Given the description of an element on the screen output the (x, y) to click on. 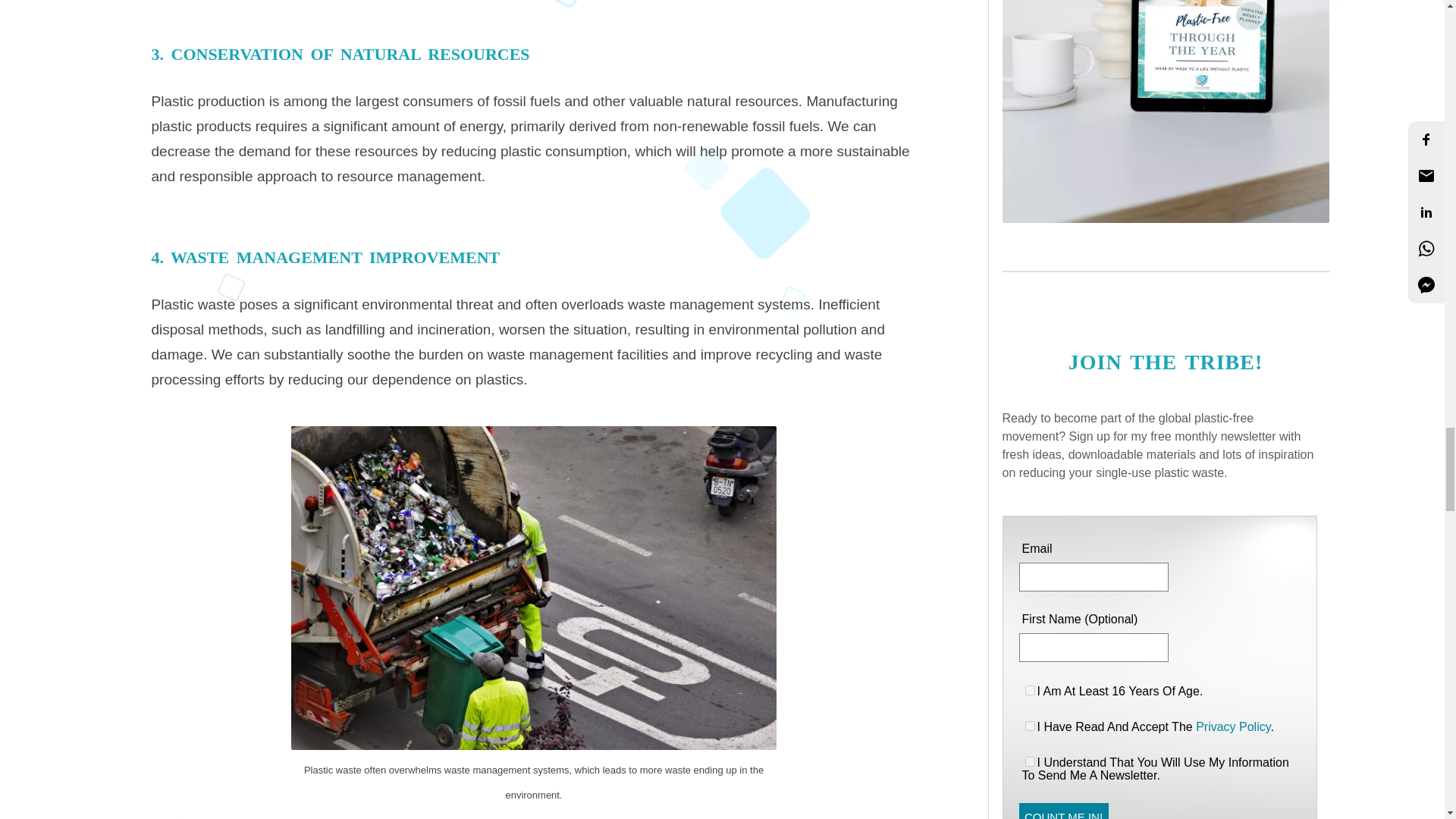
on (1030, 726)
on (1030, 761)
on (1030, 690)
